Given the description of an element on the screen output the (x, y) to click on. 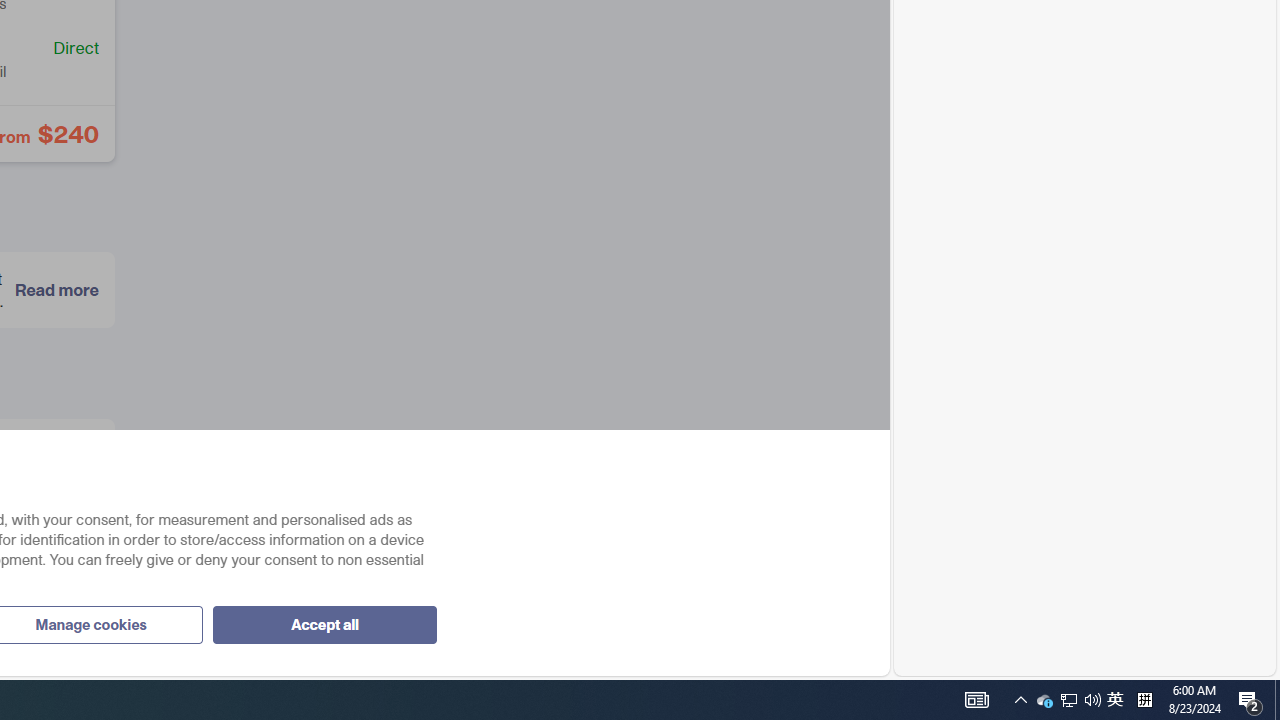
Accept all (324, 624)
